Given the description of an element on the screen output the (x, y) to click on. 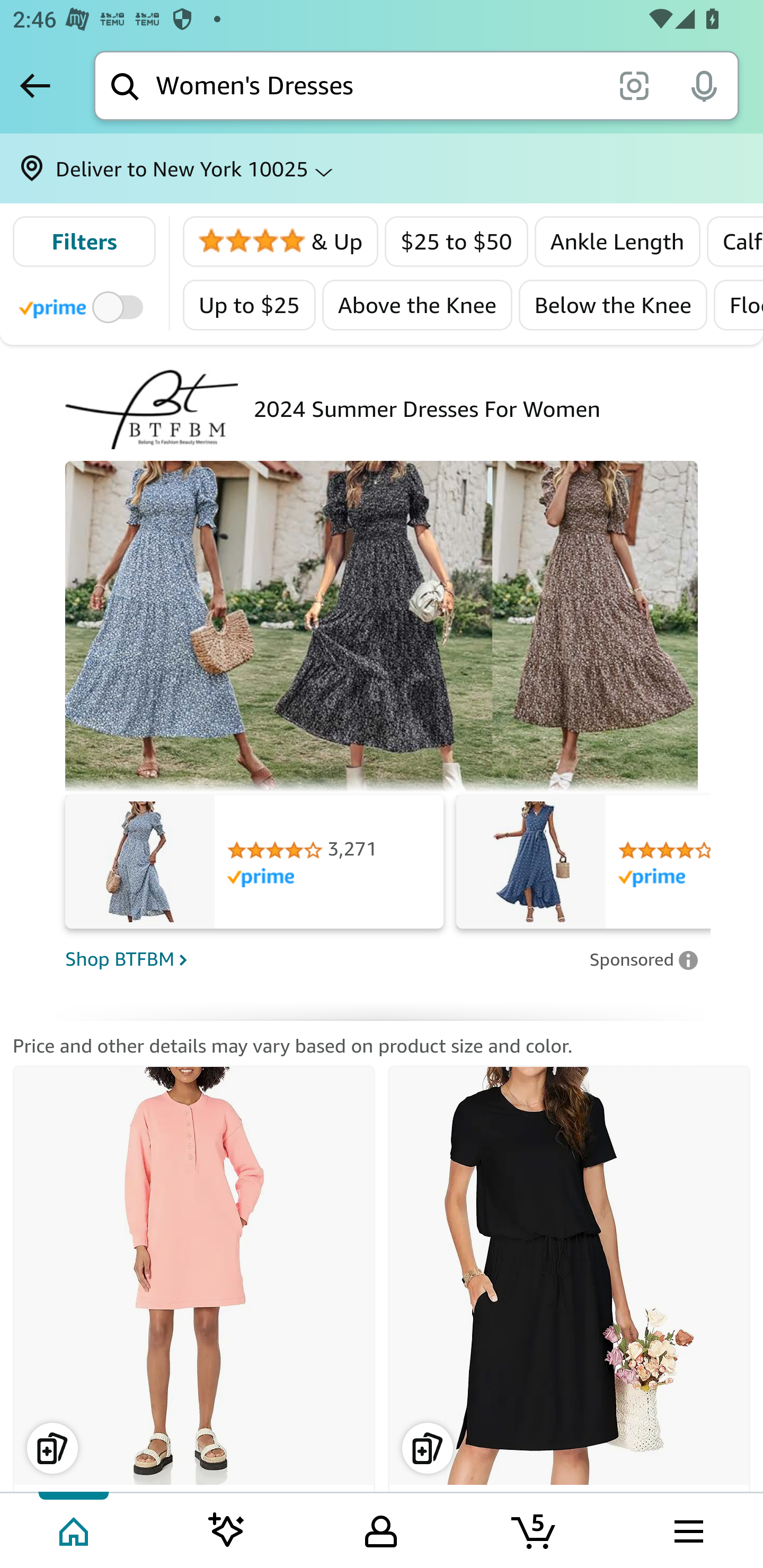
Back (35, 85)
scan it (633, 85)
Deliver to New York 10025 ⌵ (381, 168)
Filters (83, 241)
4 Stars & Up (281, 241)
$25 to $50 (456, 241)
Ankle Length (617, 241)
Toggle to filter by Prime products Prime Eligible (83, 306)
Up to $25 (249, 304)
Above the Knee (417, 304)
Below the Knee (613, 304)
Shop BTFBM Shop  BTFBM  (321, 958)
Leave feedback on Sponsored ad (643, 959)
Home Tab 1 of 5 (75, 1529)
Inspire feed Tab 2 of 5 (227, 1529)
Your Amazon.com Tab 3 of 5 (380, 1529)
Cart 5 items Tab 4 of 5 5 (534, 1529)
Browse menu Tab 5 of 5 (687, 1529)
